Given the description of an element on the screen output the (x, y) to click on. 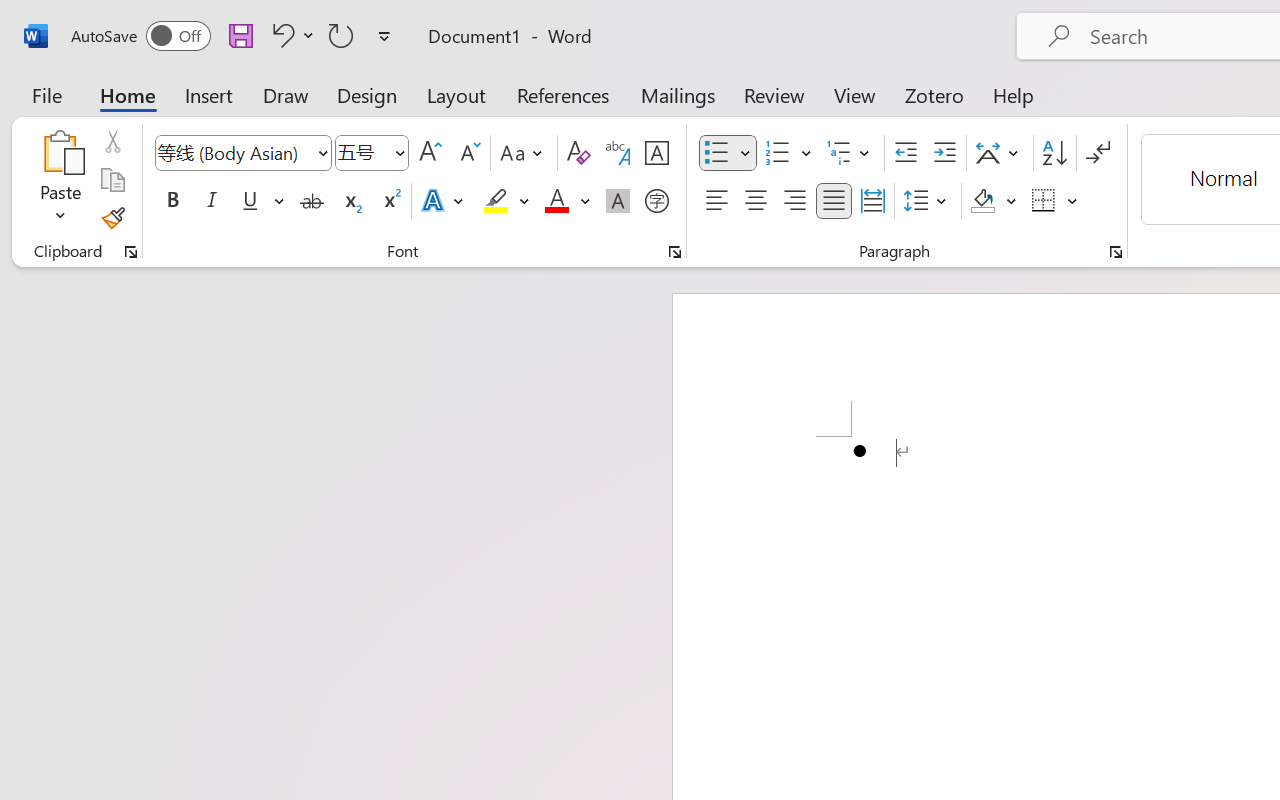
Undo Bullet Default (280, 35)
